Given the description of an element on the screen output the (x, y) to click on. 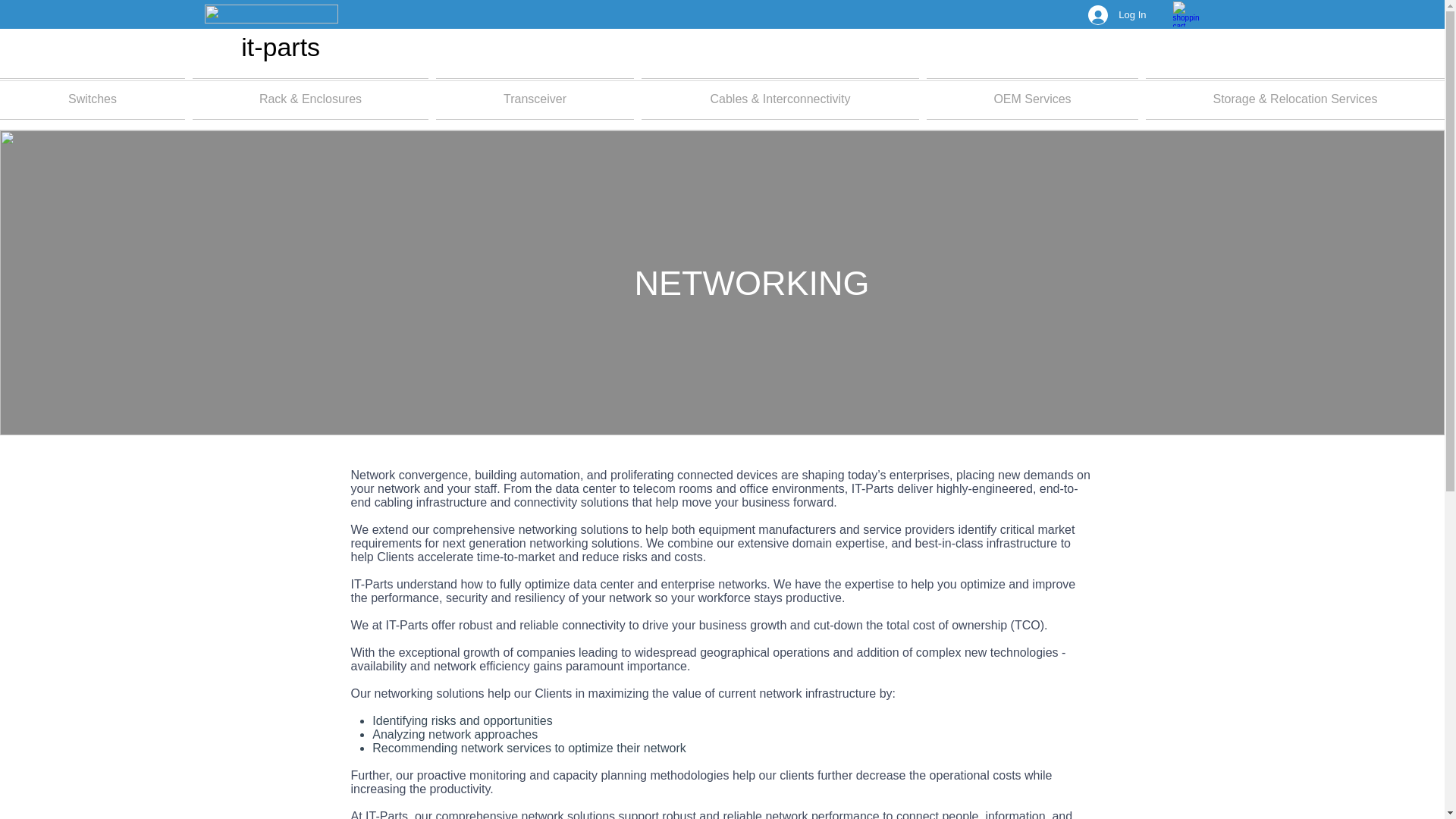
OEM Services (1032, 98)
Log In (1116, 14)
Switches (94, 98)
Transceiver (534, 98)
